Given the description of an element on the screen output the (x, y) to click on. 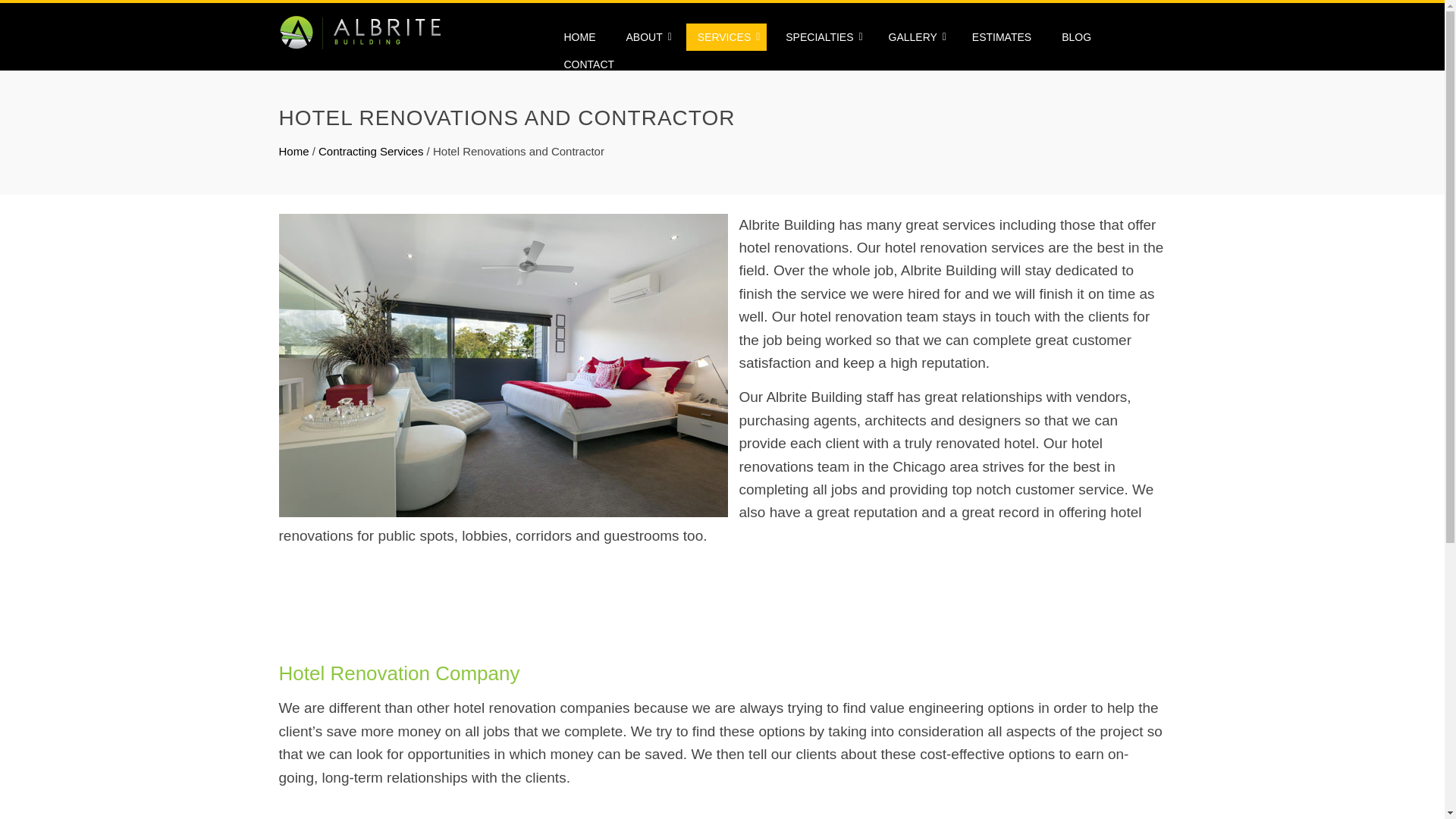
BLOG (1075, 36)
Building Specialties (821, 36)
SPECIALTIES (821, 36)
Contracting Services (370, 151)
HOME (579, 36)
Home (293, 151)
SERVICES (726, 36)
ABOUT (646, 36)
GALLERY (914, 36)
CONTACT (588, 63)
Contracting Services (726, 36)
About Albrite Building (646, 36)
ESTIMATES (1001, 36)
